Given the description of an element on the screen output the (x, y) to click on. 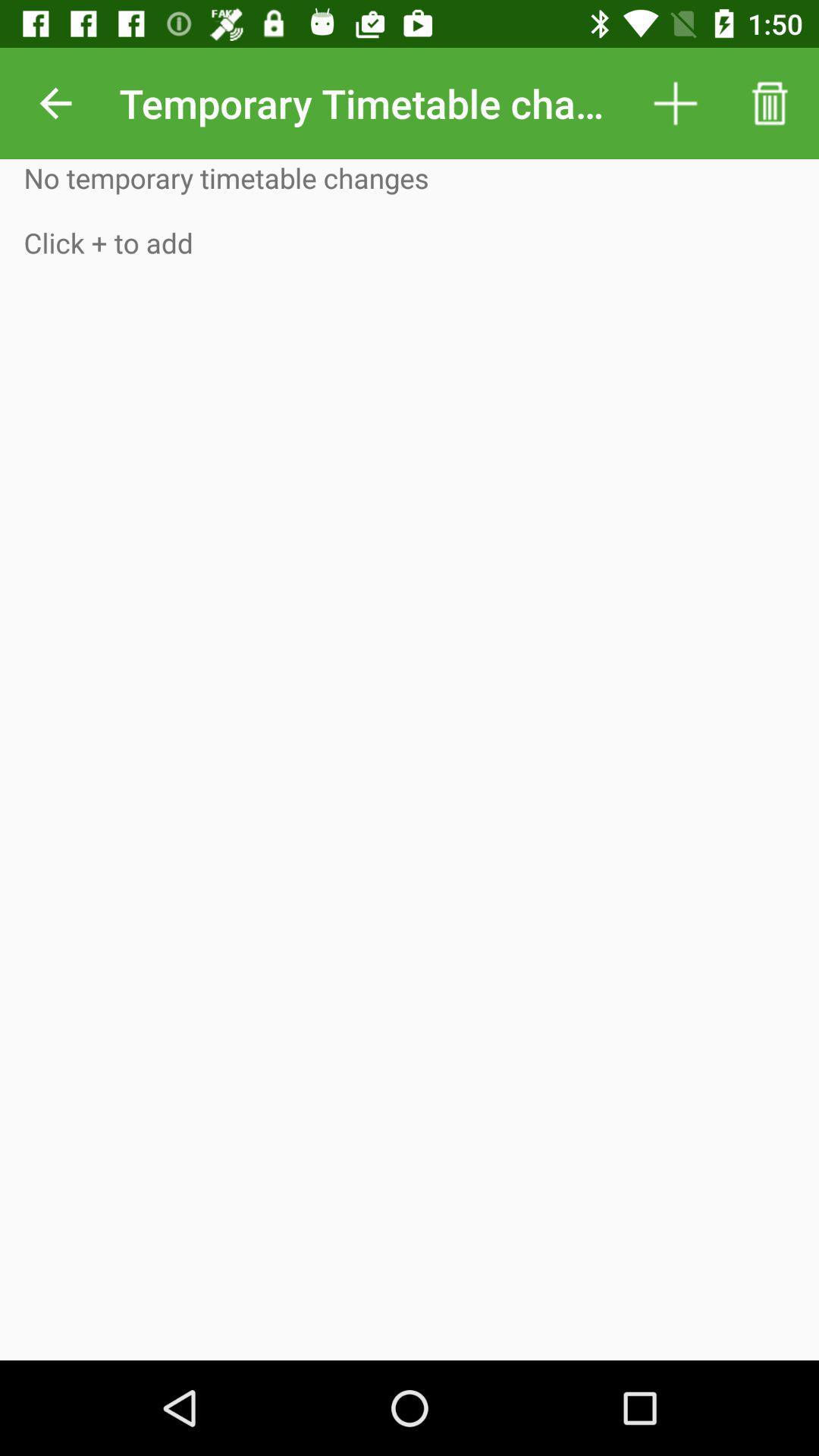
press icon to the right of temporary timetable changes item (675, 103)
